Given the description of an element on the screen output the (x, y) to click on. 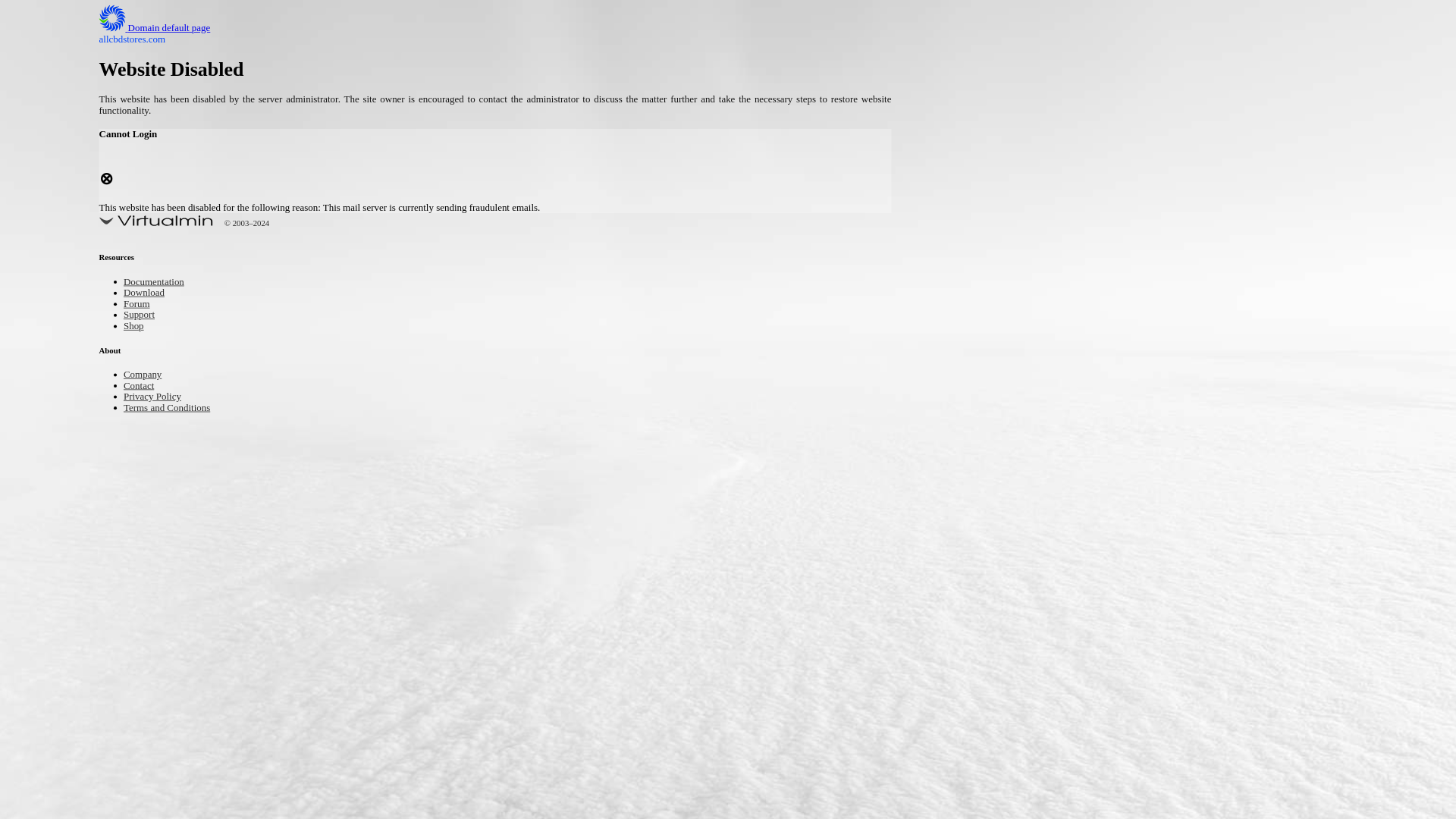
the original source (856, 709)
Skip to content (34, 9)
Search (1050, 85)
Disclaimer (990, 354)
here are the findings (577, 655)
Search (1050, 85)
DMCA Policy (996, 282)
look at here now (467, 411)
Latest Article (996, 172)
August 2020 (996, 432)
Privacy Policy (999, 306)
RSS (977, 612)
Search for: (1049, 47)
Blog (976, 510)
Contact Us (991, 258)
